Given the description of an element on the screen output the (x, y) to click on. 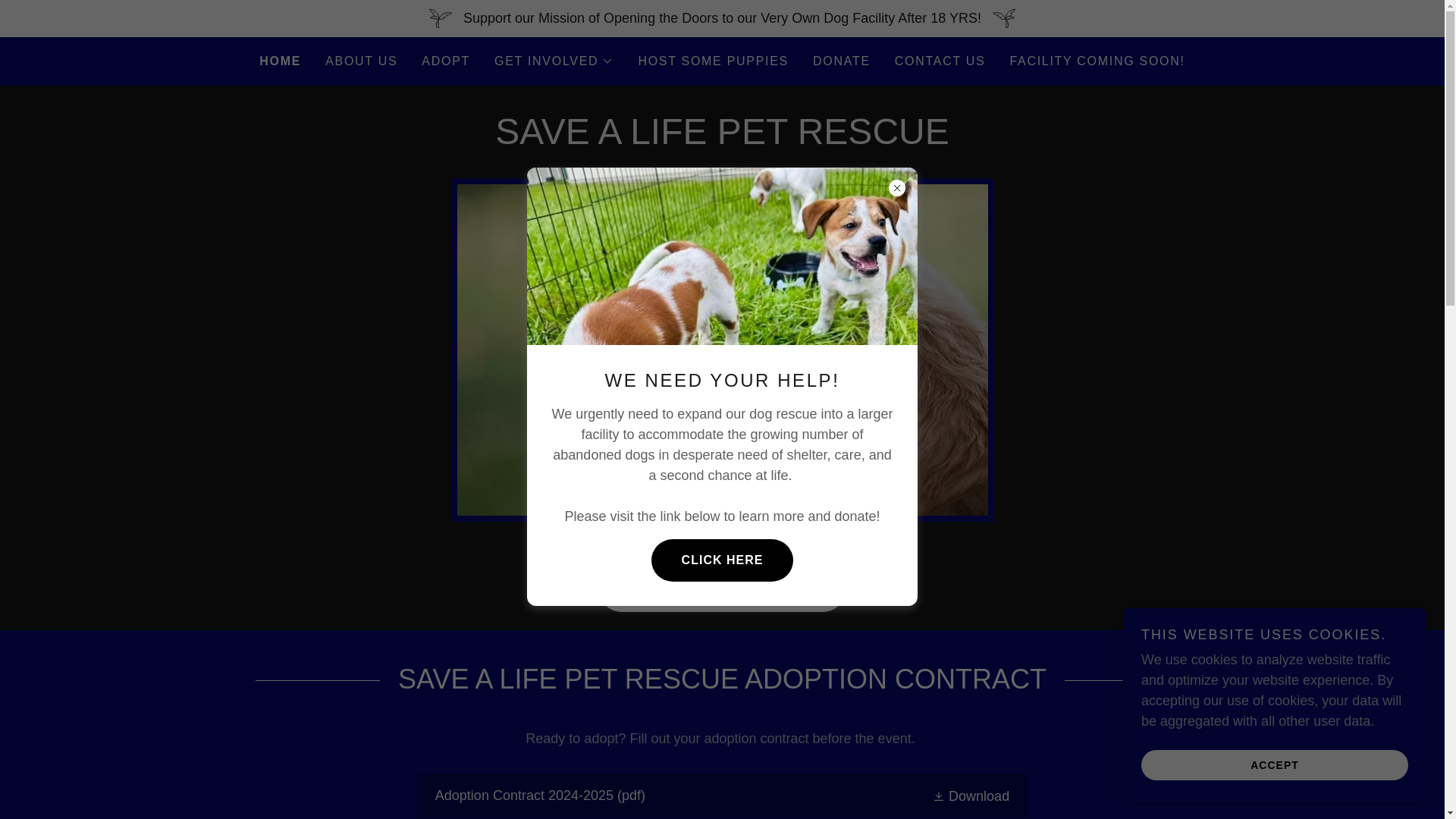
SEE OUR ADOPTABLE PETS (721, 590)
ADOPT (445, 61)
FACILITY COMING SOON! (1096, 61)
DONATE (841, 61)
SAVE A LIFE PET RESCUE (722, 139)
GET INVOLVED (553, 61)
ABOUT US (360, 61)
CONTACT US (939, 61)
HOST SOME PUPPIES (713, 61)
HOME (280, 61)
